Given the description of an element on the screen output the (x, y) to click on. 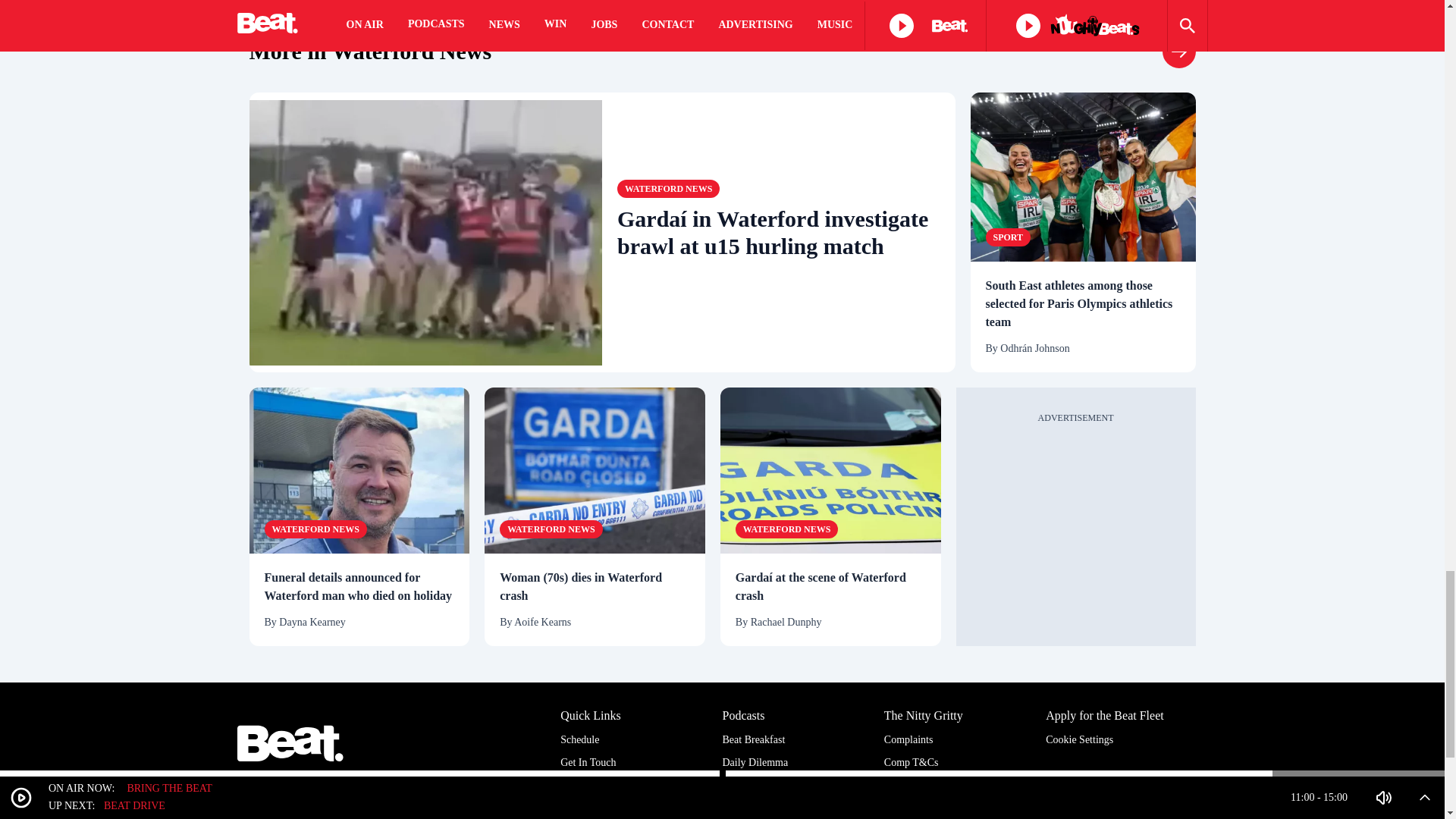
Waterford News (668, 188)
Sport (1007, 237)
Waterford News (1178, 51)
Waterford News (370, 51)
Waterford News (314, 529)
